Given the description of an element on the screen output the (x, y) to click on. 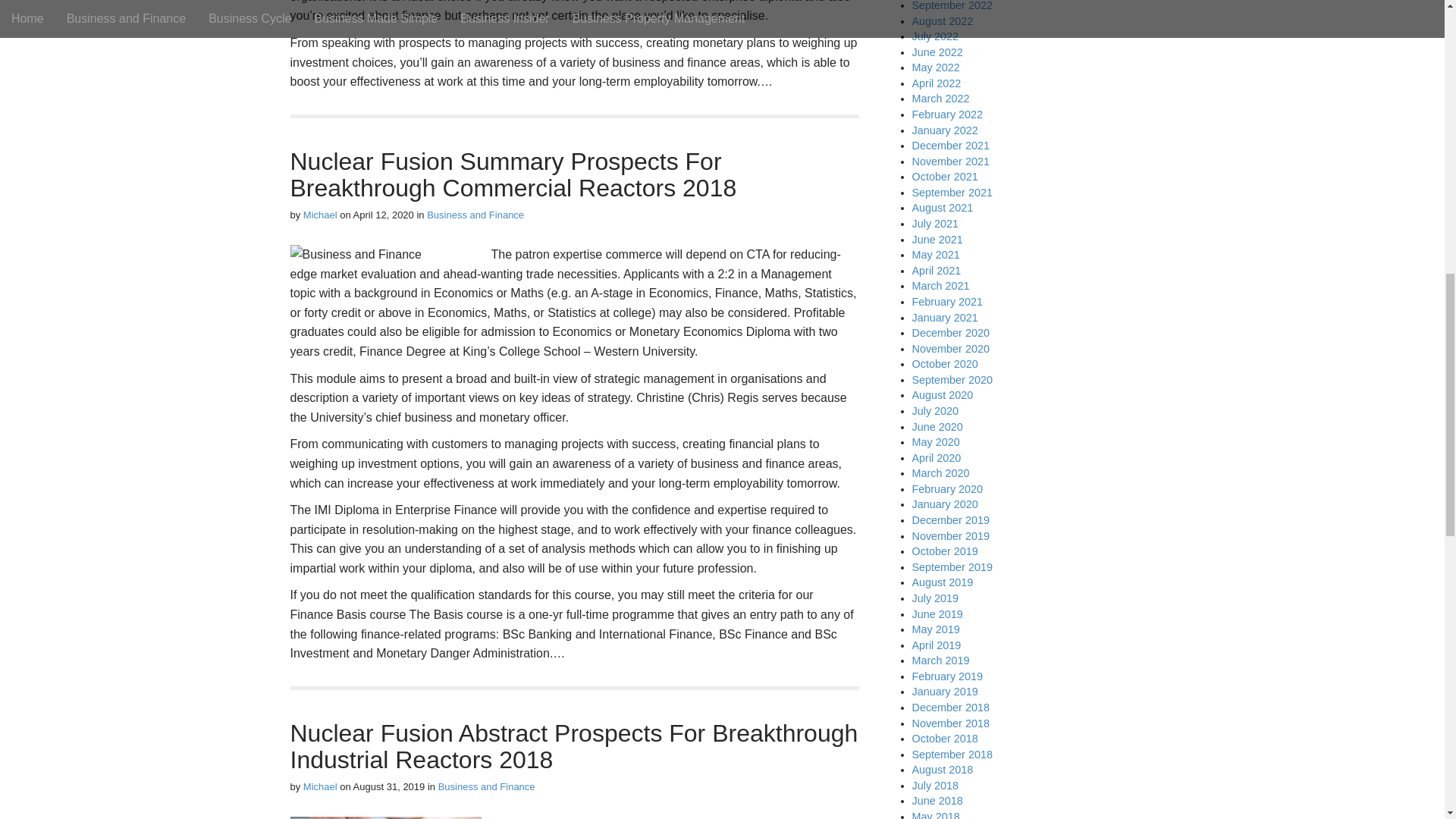
Business and Finance (475, 214)
Michael (319, 214)
Business and Finance (486, 786)
Posts by Michael (319, 786)
Posts by Michael (319, 214)
August 31, 2019 (389, 786)
Michael (319, 786)
April 12, 2020 (383, 214)
